Given the description of an element on the screen output the (x, y) to click on. 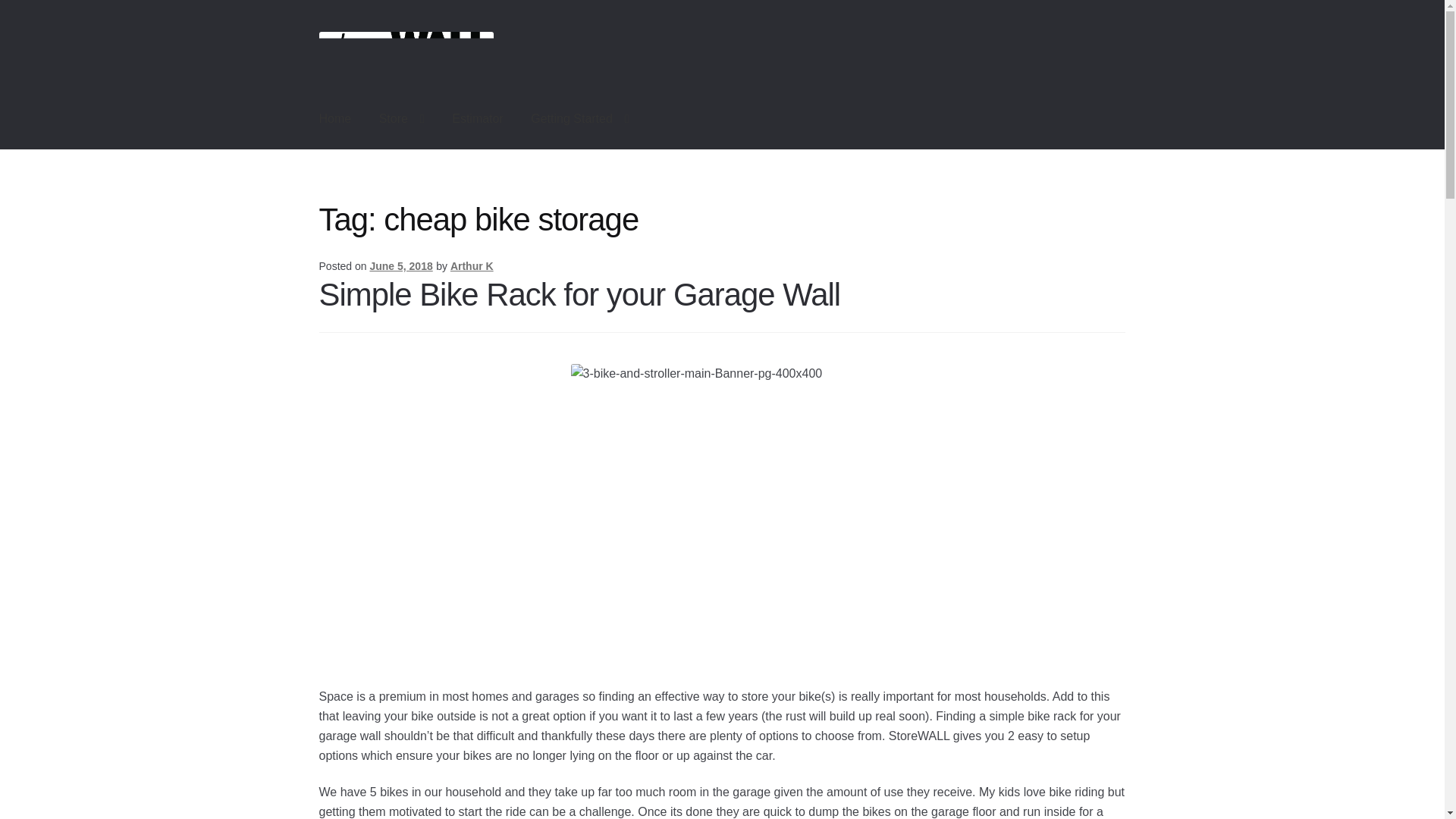
Home (335, 118)
Getting Started (579, 118)
Estimator (477, 118)
Store (401, 118)
